Given the description of an element on the screen output the (x, y) to click on. 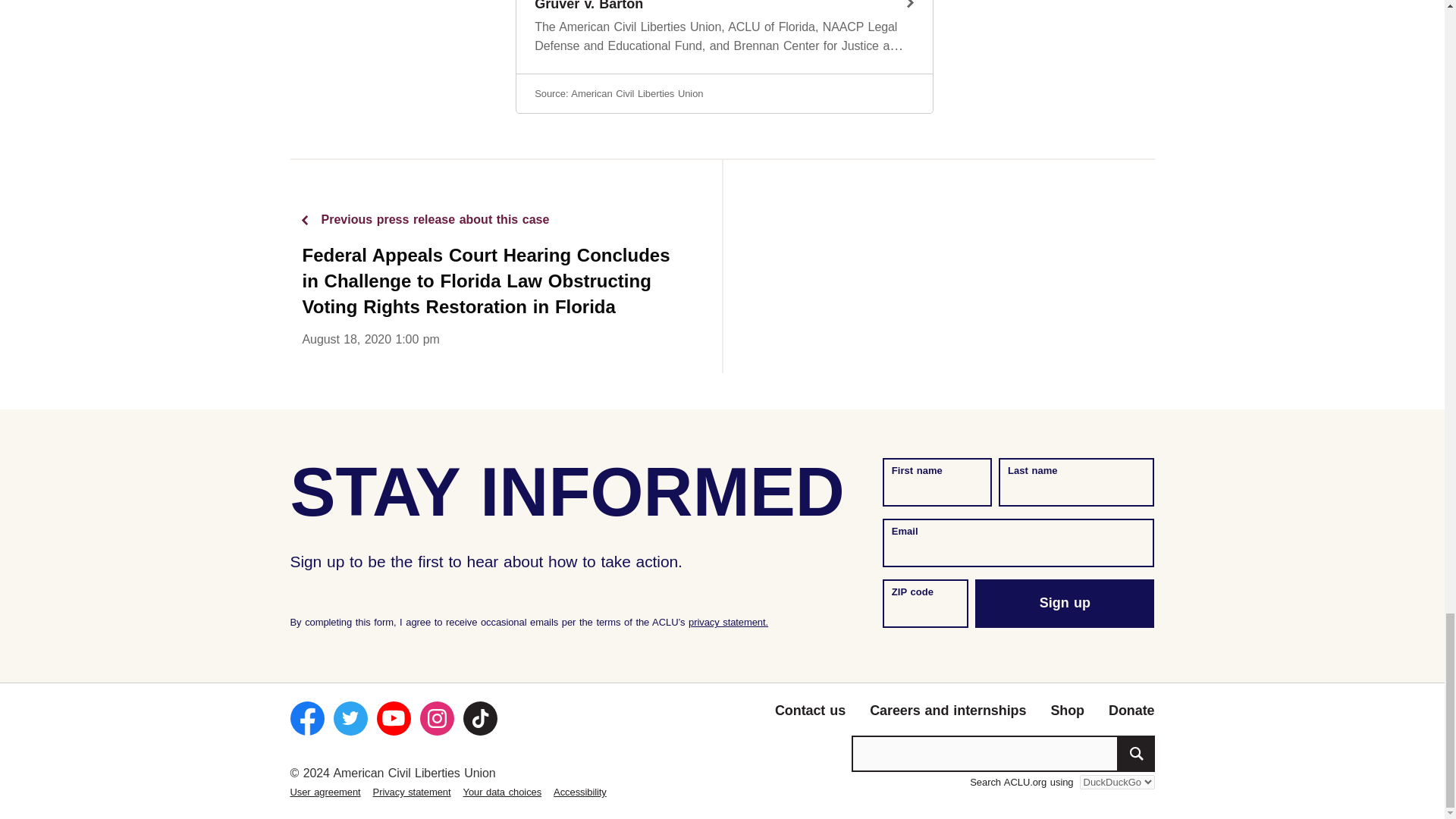
Follow the ACLU on YouTube (392, 718)
Follow the ACLU on Instagram (437, 718)
Follow the ACLU on Twitter (350, 718)
search (1136, 753)
Follow the ACLU on TikTok (479, 718)
Follow the ACLU on Facebook (306, 718)
